Given the description of an element on the screen output the (x, y) to click on. 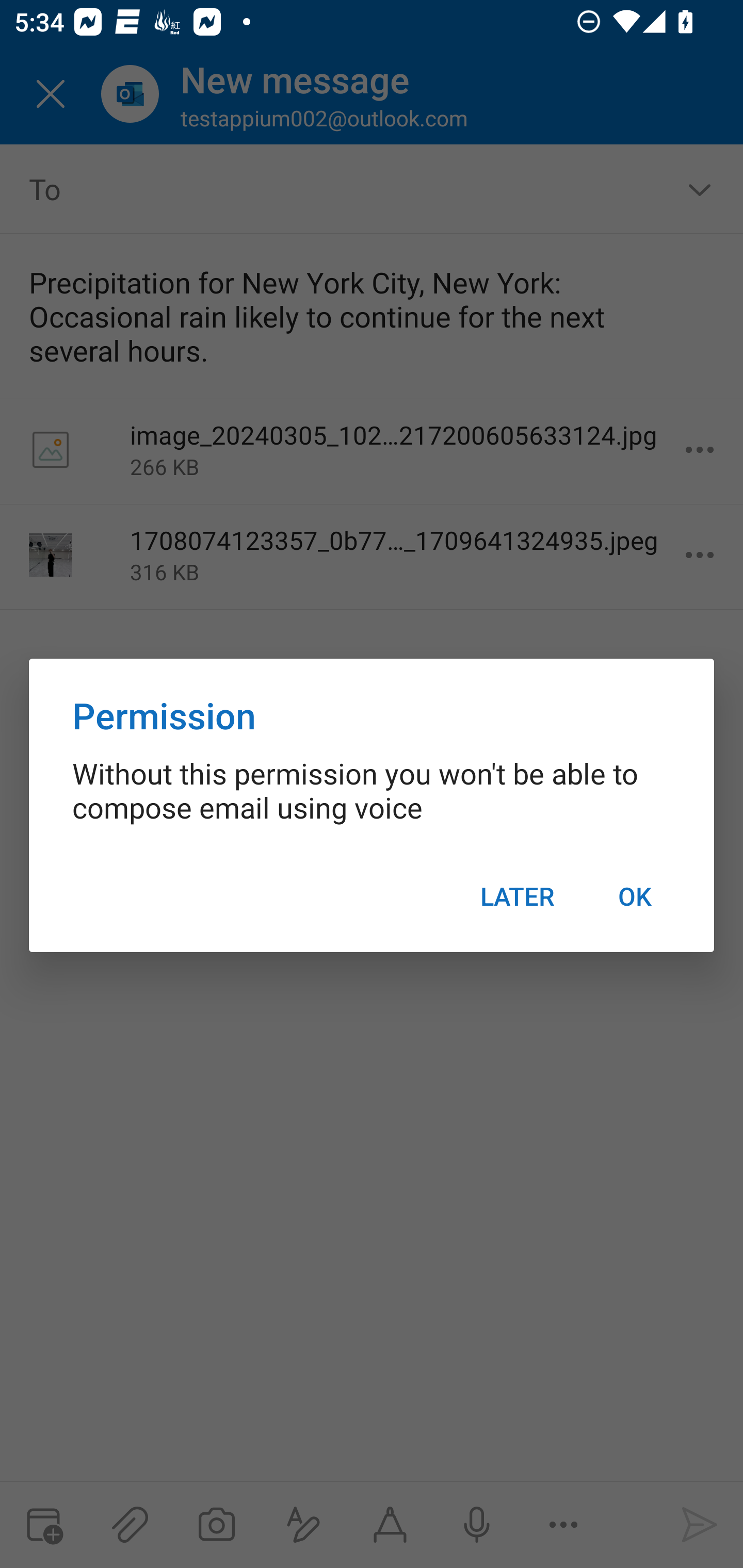
LATER (517, 895)
OK (634, 895)
